Given the description of an element on the screen output the (x, y) to click on. 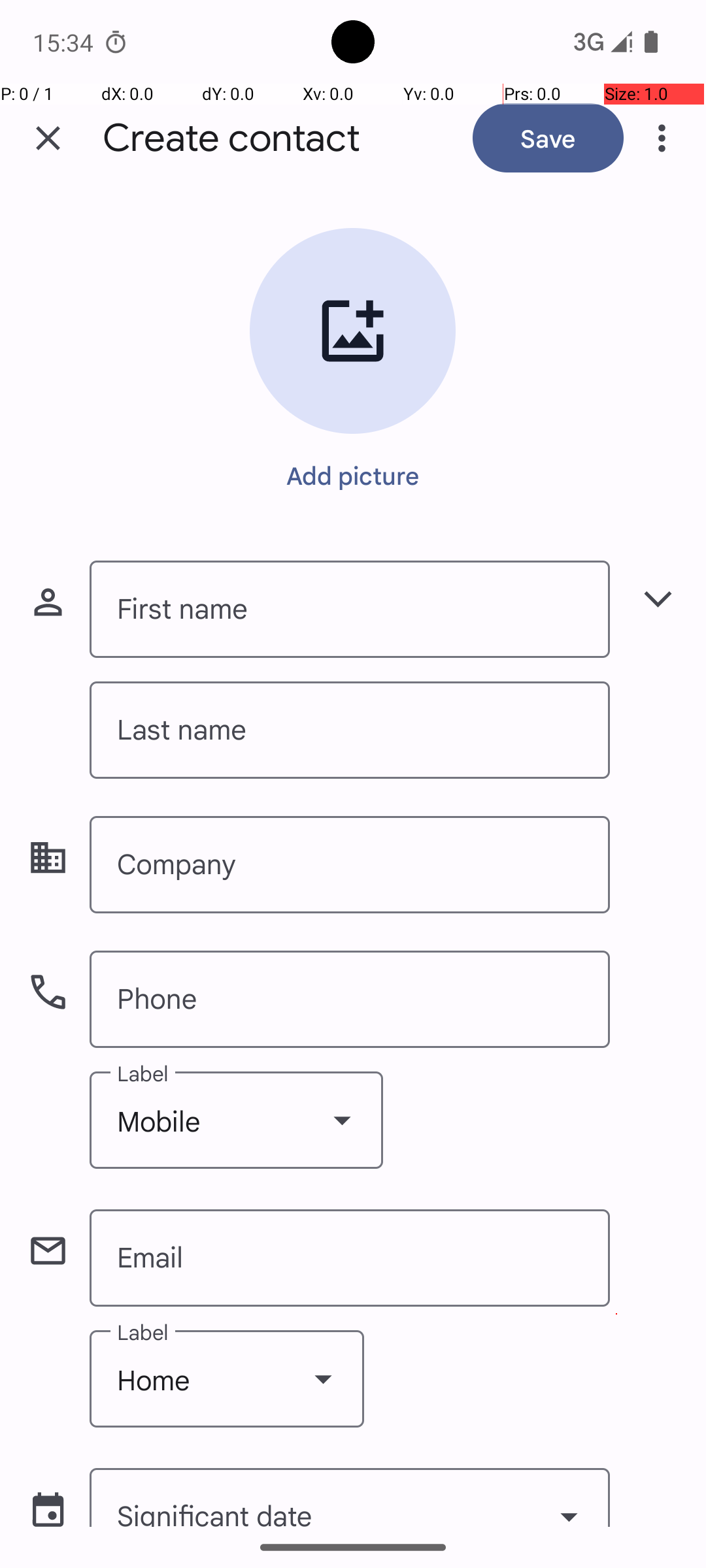
Add picture Element type: android.widget.Button (352, 474)
Significant date Element type: android.widget.EditText (349, 1497)
Show date picker Element type: android.widget.ImageButton (568, 1500)
